Given the description of an element on the screen output the (x, y) to click on. 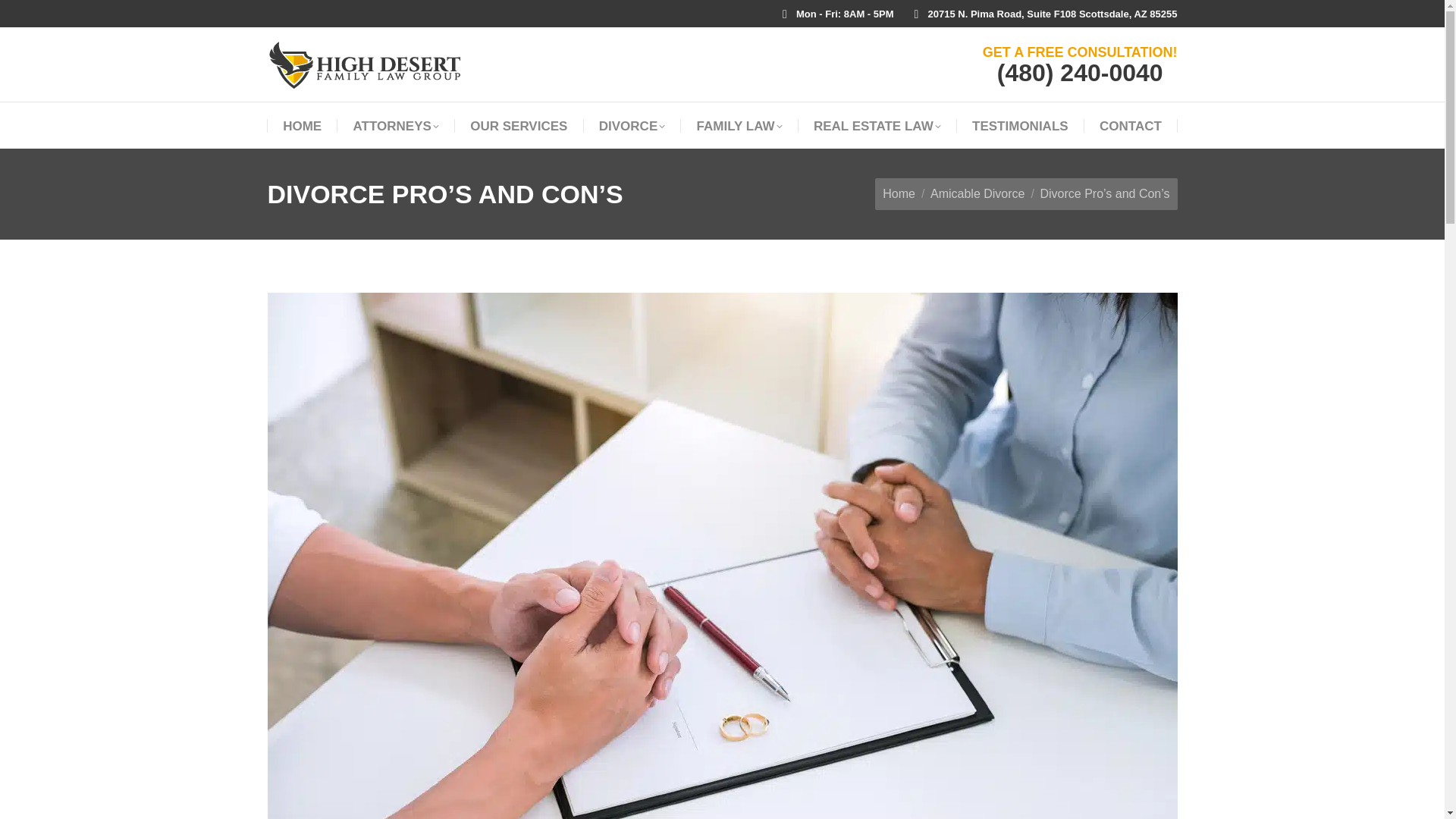
TESTIMONIALS (1020, 126)
REAL ESTATE LAW (876, 126)
FAMILY LAW (740, 126)
Amicable Divorce (977, 193)
HOME (301, 126)
ATTORNEYS (396, 126)
DIVORCE (631, 126)
CONTACT (1130, 126)
OUR SERVICES (518, 126)
Home (898, 193)
